Given the description of an element on the screen output the (x, y) to click on. 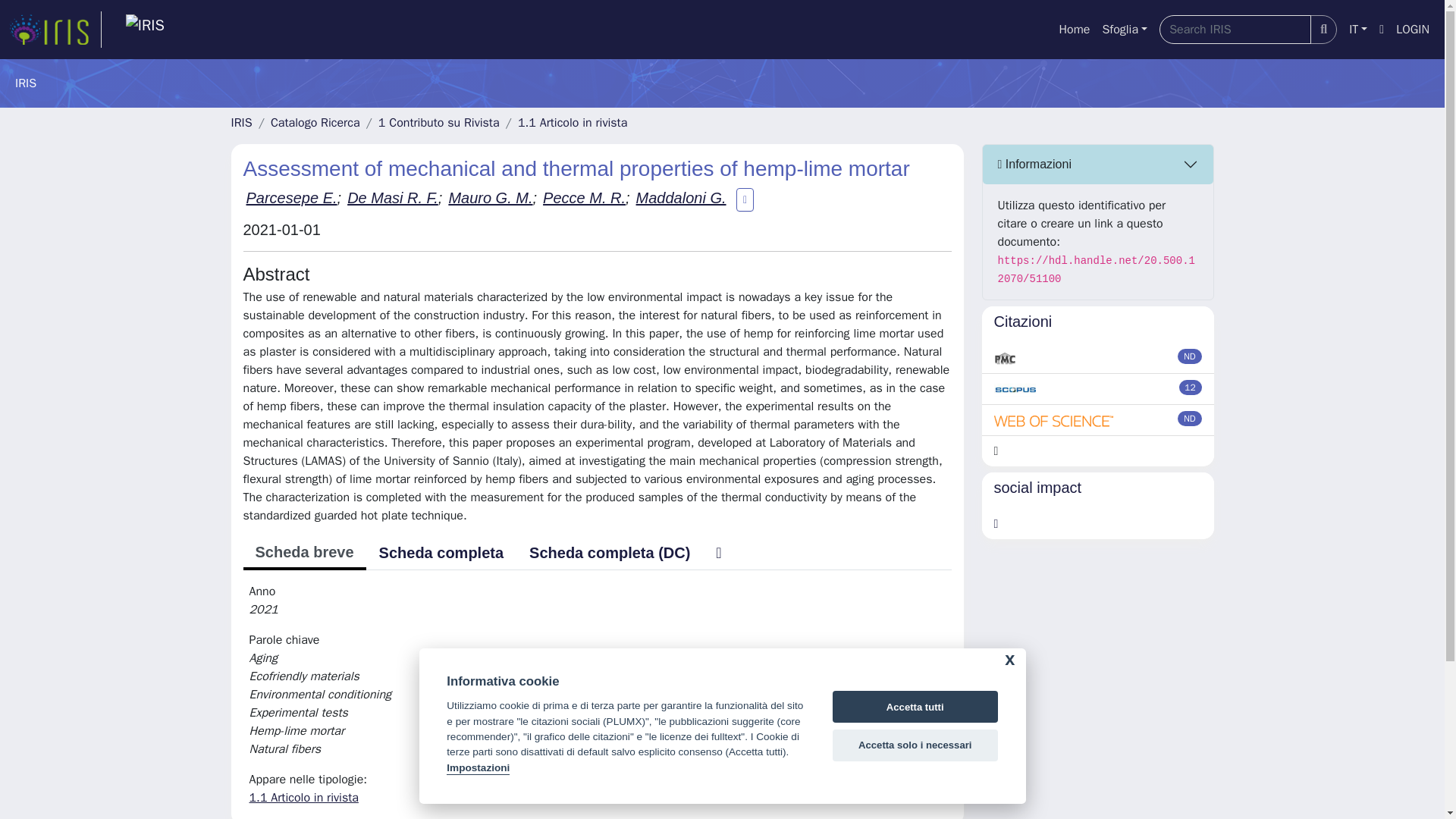
Home (1074, 29)
Scheda breve (304, 553)
Scheda completa (441, 552)
1.1 Articolo in rivista (303, 797)
De Masi R. F. (392, 197)
1 Contributo su Rivista (438, 122)
IRIS (240, 122)
IT (1357, 29)
1.1 Articolo in rivista (572, 122)
Pecce M. R. (584, 197)
